Given the description of an element on the screen output the (x, y) to click on. 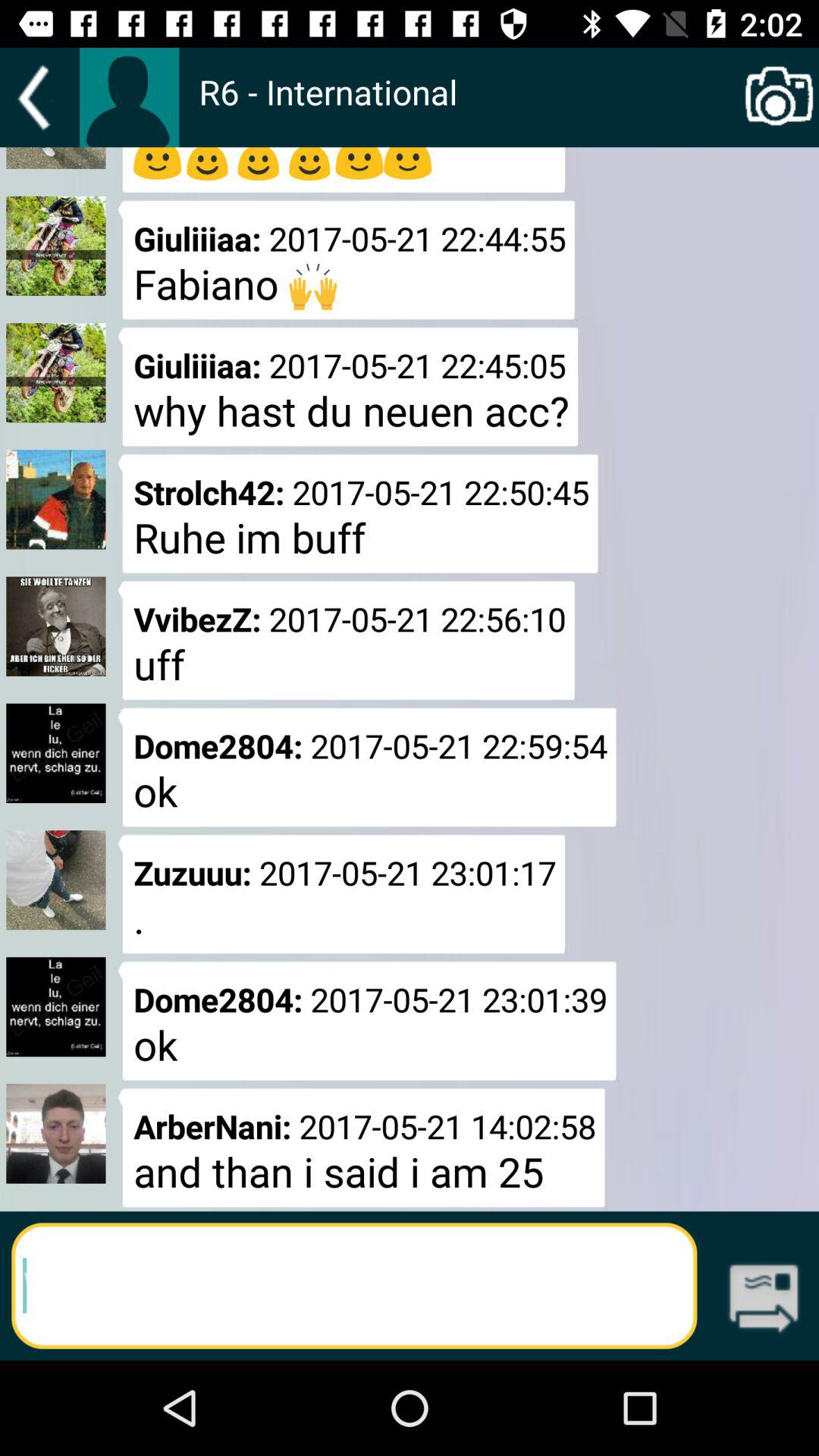
launch item next to r6 - international app (779, 97)
